Given the description of an element on the screen output the (x, y) to click on. 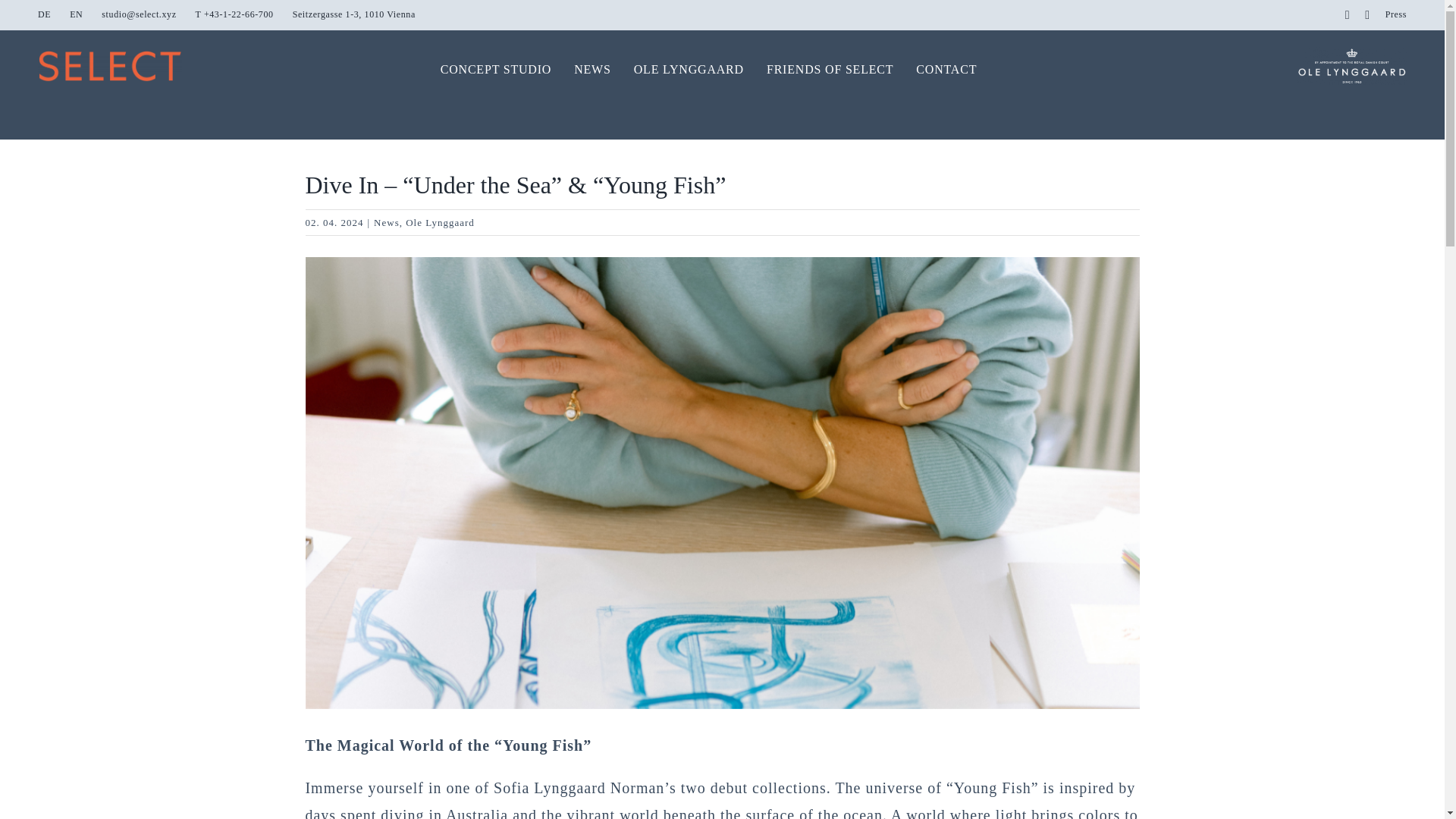
CONTACT (945, 69)
FRIENDS OF SELECT (830, 69)
NEWS (592, 69)
CONCEPT STUDIO (496, 69)
Seitzergasse 1-3, 1010 Vienna (353, 15)
OLE LYNGGAARD (688, 69)
